Given the description of an element on the screen output the (x, y) to click on. 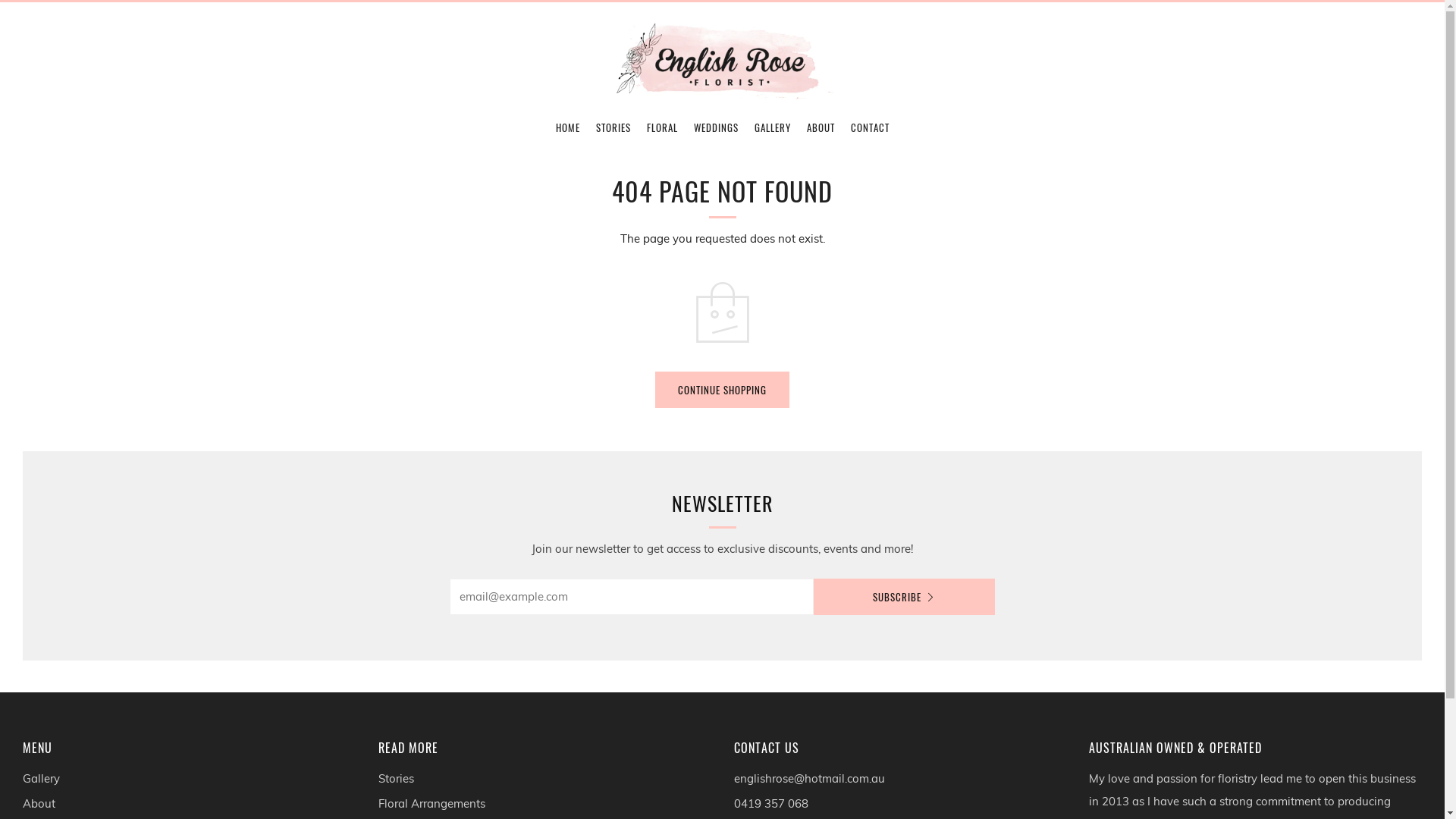
Gallery Element type: text (40, 778)
englishrose@hotmail.com.au Element type: text (809, 778)
WEDDINGS Element type: text (715, 127)
HOME Element type: text (567, 127)
Floral Arrangements Element type: text (431, 803)
GALLERY Element type: text (771, 127)
Stories Element type: text (396, 778)
STORIES Element type: text (613, 127)
0419 357 068 Element type: text (771, 803)
About Element type: text (38, 803)
CONTINUE SHOPPING Element type: text (722, 389)
CONTACT Element type: text (869, 127)
SUBSCRIBE Element type: text (903, 596)
ABOUT Element type: text (820, 127)
FLORAL Element type: text (661, 127)
